Given the description of an element on the screen output the (x, y) to click on. 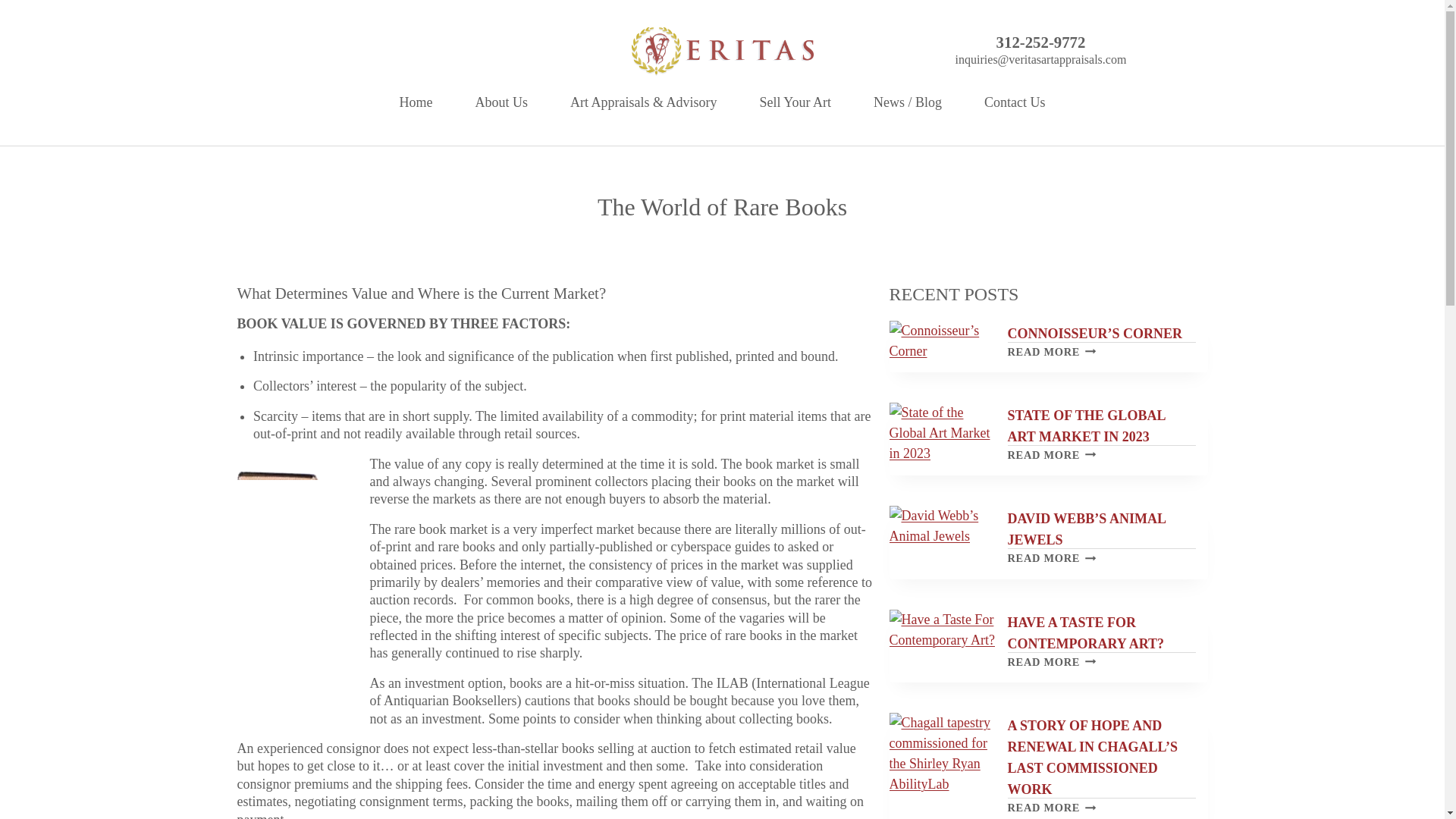
Sell Your Art (794, 102)
312-252-9772 (1051, 662)
STATE OF THE GLOBAL ART MARKET IN 2023 (1040, 41)
About Us (1085, 425)
Home (500, 102)
Contact Us (1051, 454)
HAVE A TASTE FOR CONTEMPORARY ART? (415, 102)
